Given the description of an element on the screen output the (x, y) to click on. 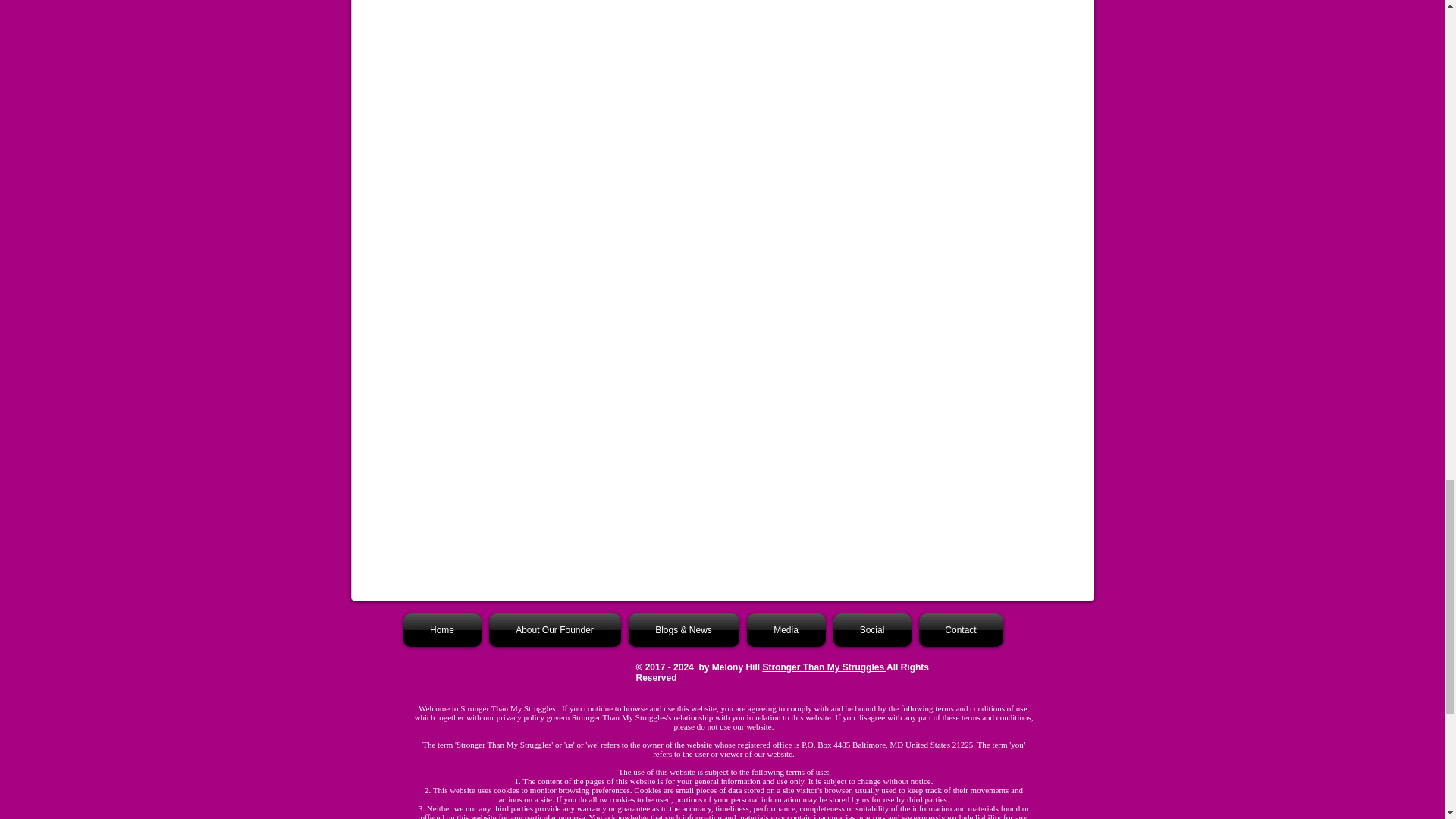
About Our Founder (554, 630)
Stronger Than My Struggles (823, 666)
Media (785, 630)
Contact (958, 630)
Home (443, 630)
Social (872, 630)
